Given the description of an element on the screen output the (x, y) to click on. 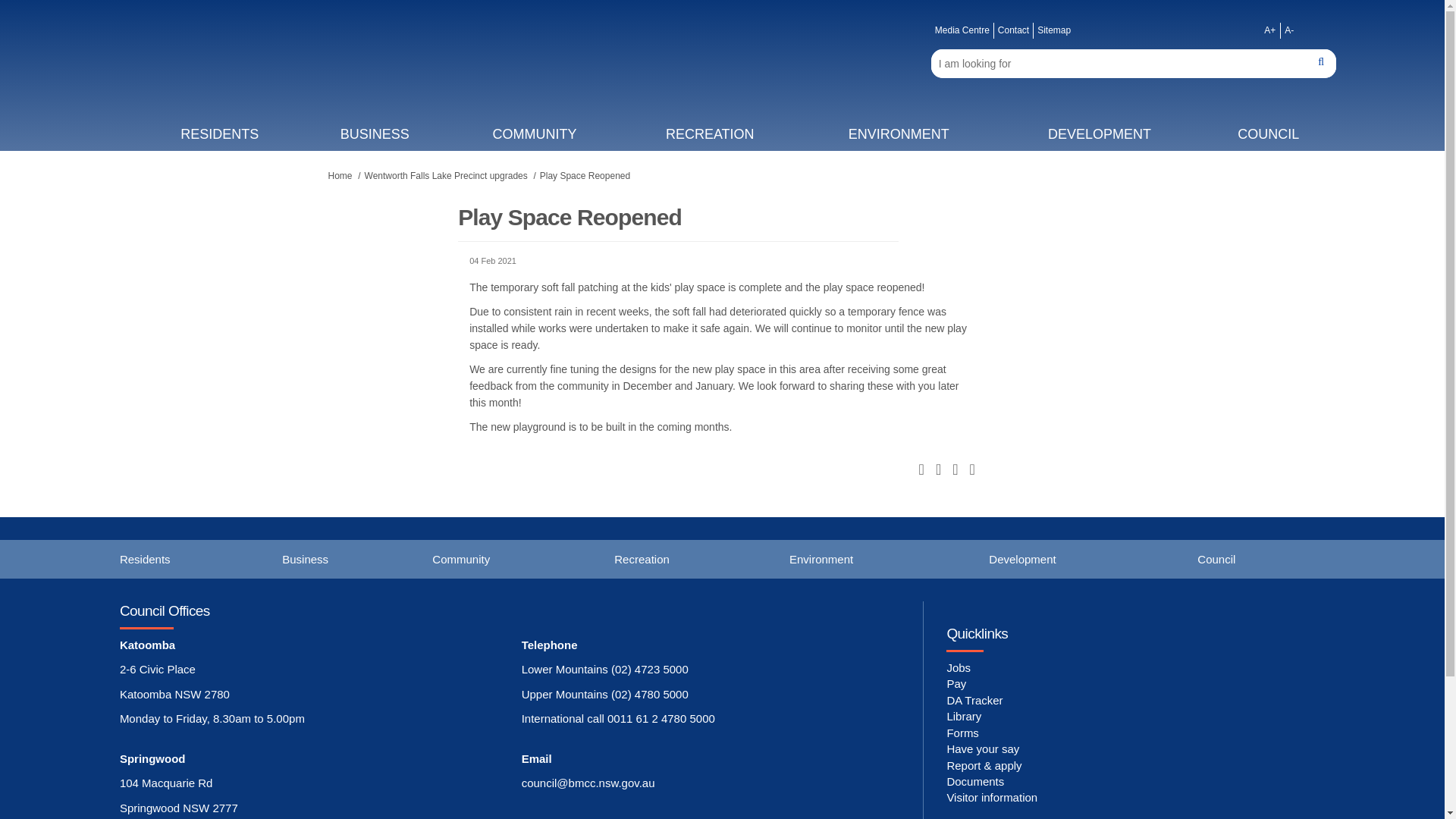
A- (1289, 30)
RESIDENTS (219, 133)
Media Centre (961, 30)
Wentworth Falls Lake Precinct upgrades (446, 175)
Contact (1013, 30)
COMMUNITY (534, 133)
04 Feb 2021, 12:22 PM (721, 261)
COUNCIL (1268, 133)
Home (339, 175)
RECREATION (709, 133)
BUSINESS (374, 133)
DEVELOPMENT (1098, 133)
ENVIRONMENT (898, 133)
Sitemap (1053, 30)
